Given the description of an element on the screen output the (x, y) to click on. 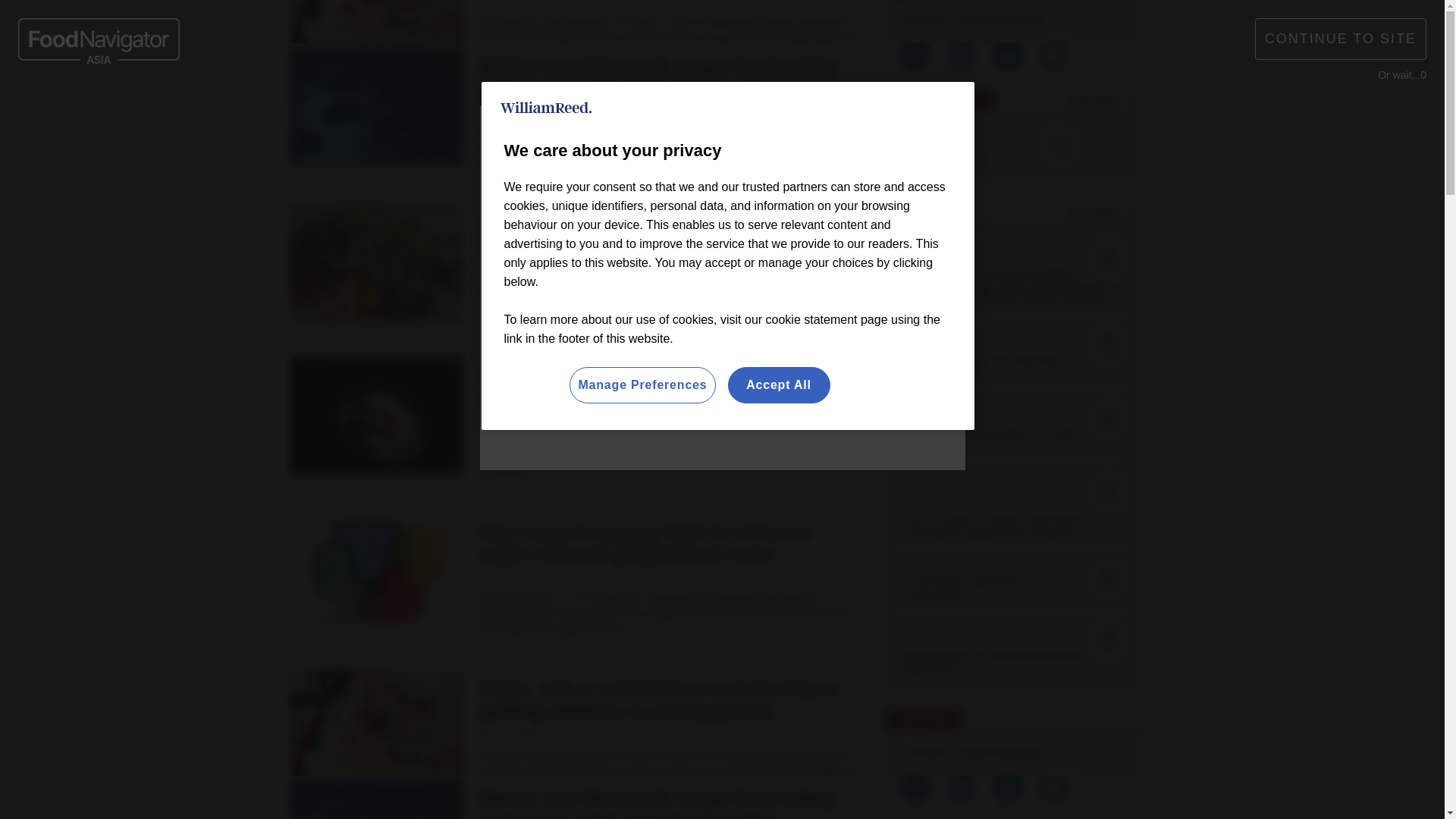
3rd party ad content (1020, 715)
Send (1129, 89)
3rd party ad content (722, 423)
CONTINUE TO SITE (1340, 38)
Sign in (1029, 20)
My account (1114, 20)
FoodNavigator Asia (98, 39)
Regions (448, 159)
FoodNavigator Asia (403, 89)
Send (1129, 90)
REGISTER (1110, 20)
Home (313, 159)
ASIA (752, 22)
